Given the description of an element on the screen output the (x, y) to click on. 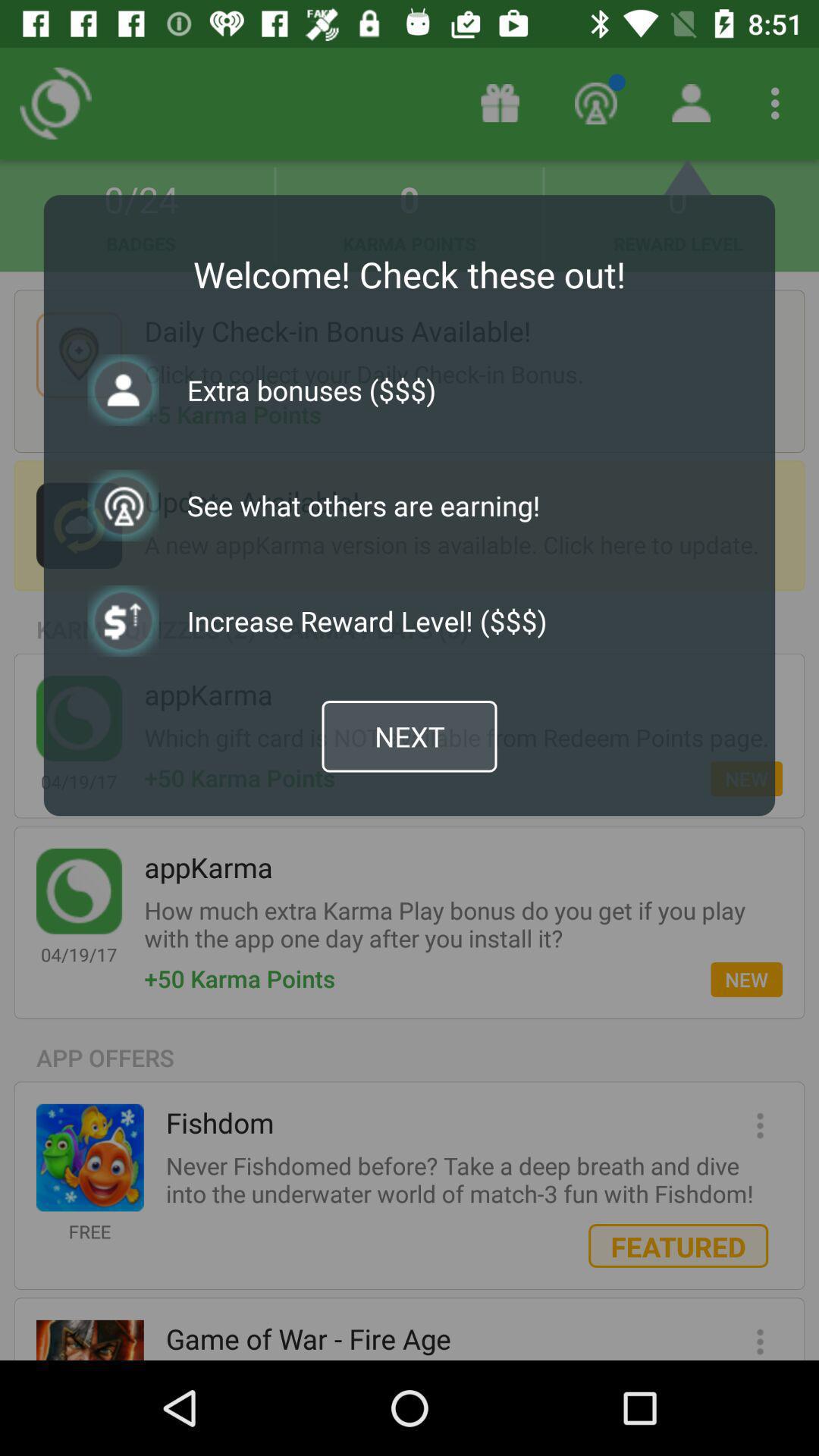
choose the next (409, 736)
